Given the description of an element on the screen output the (x, y) to click on. 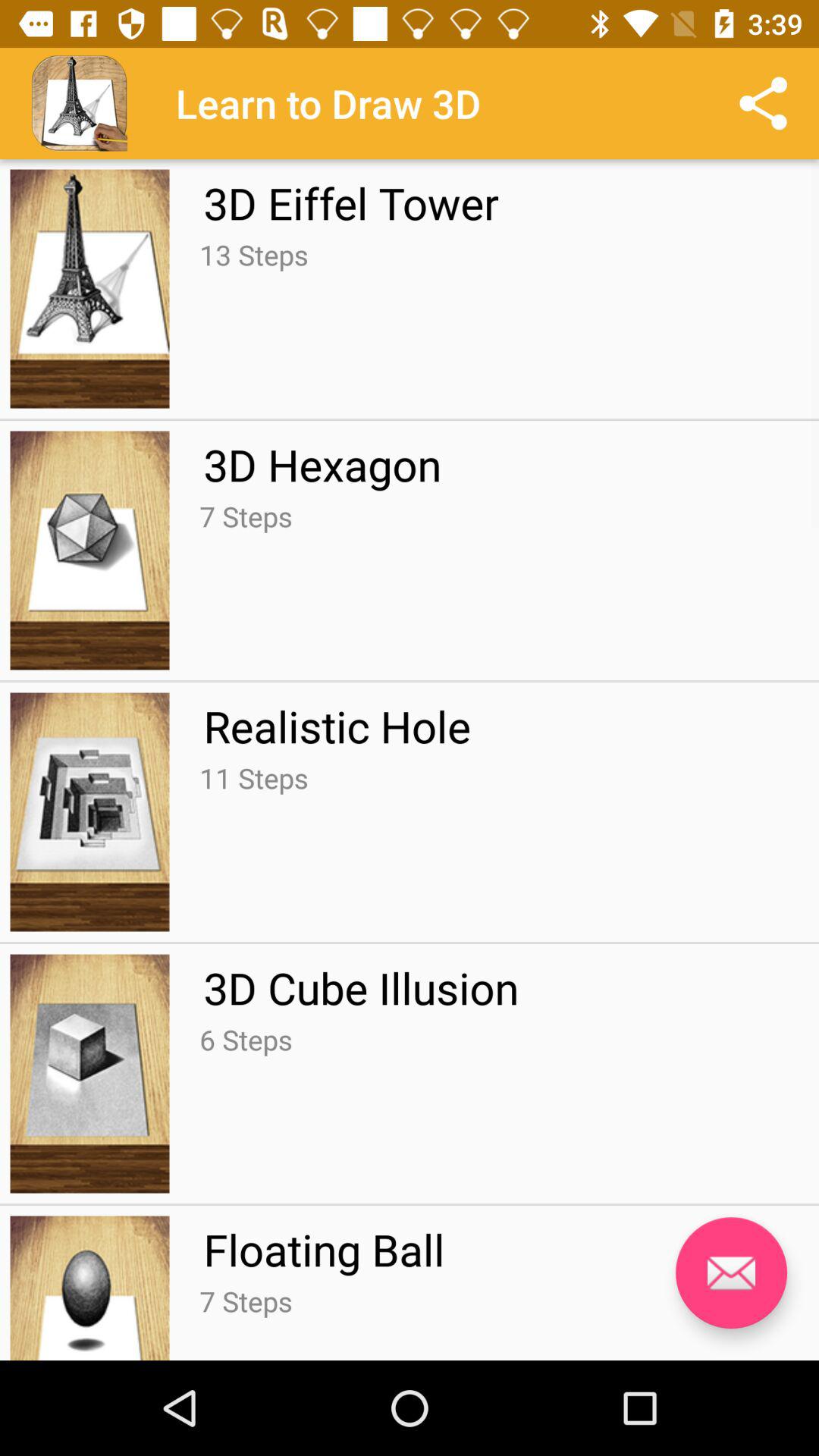
tap item below the 11 steps app (360, 987)
